Given the description of an element on the screen output the (x, y) to click on. 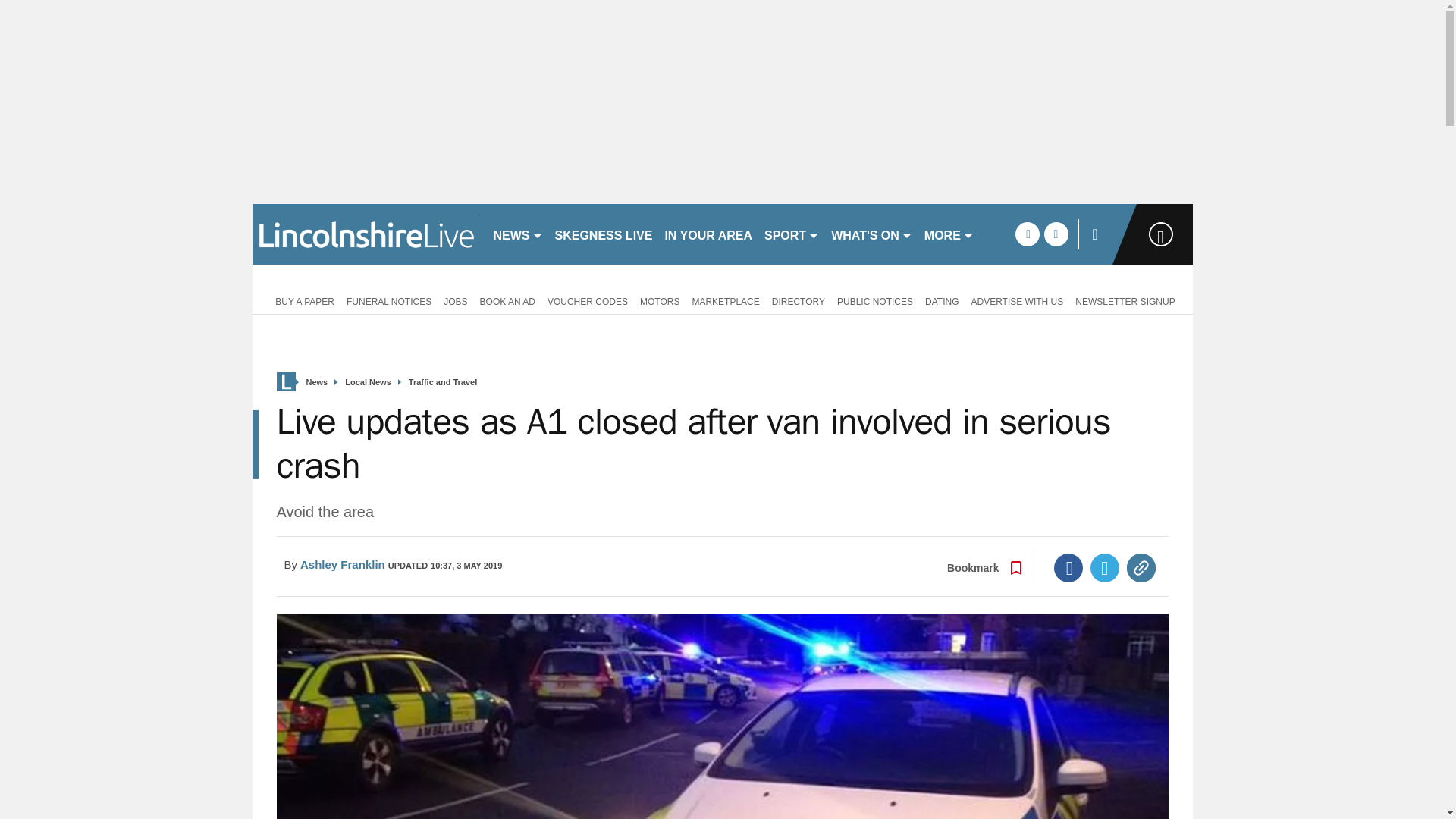
Facebook (1068, 567)
facebook (1026, 233)
Twitter (1104, 567)
SPORT (791, 233)
MORE (948, 233)
WHAT'S ON (871, 233)
twitter (1055, 233)
lincolnshirelive (365, 233)
SKEGNESS LIVE (603, 233)
BUY A PAPER (301, 300)
